Given the description of an element on the screen output the (x, y) to click on. 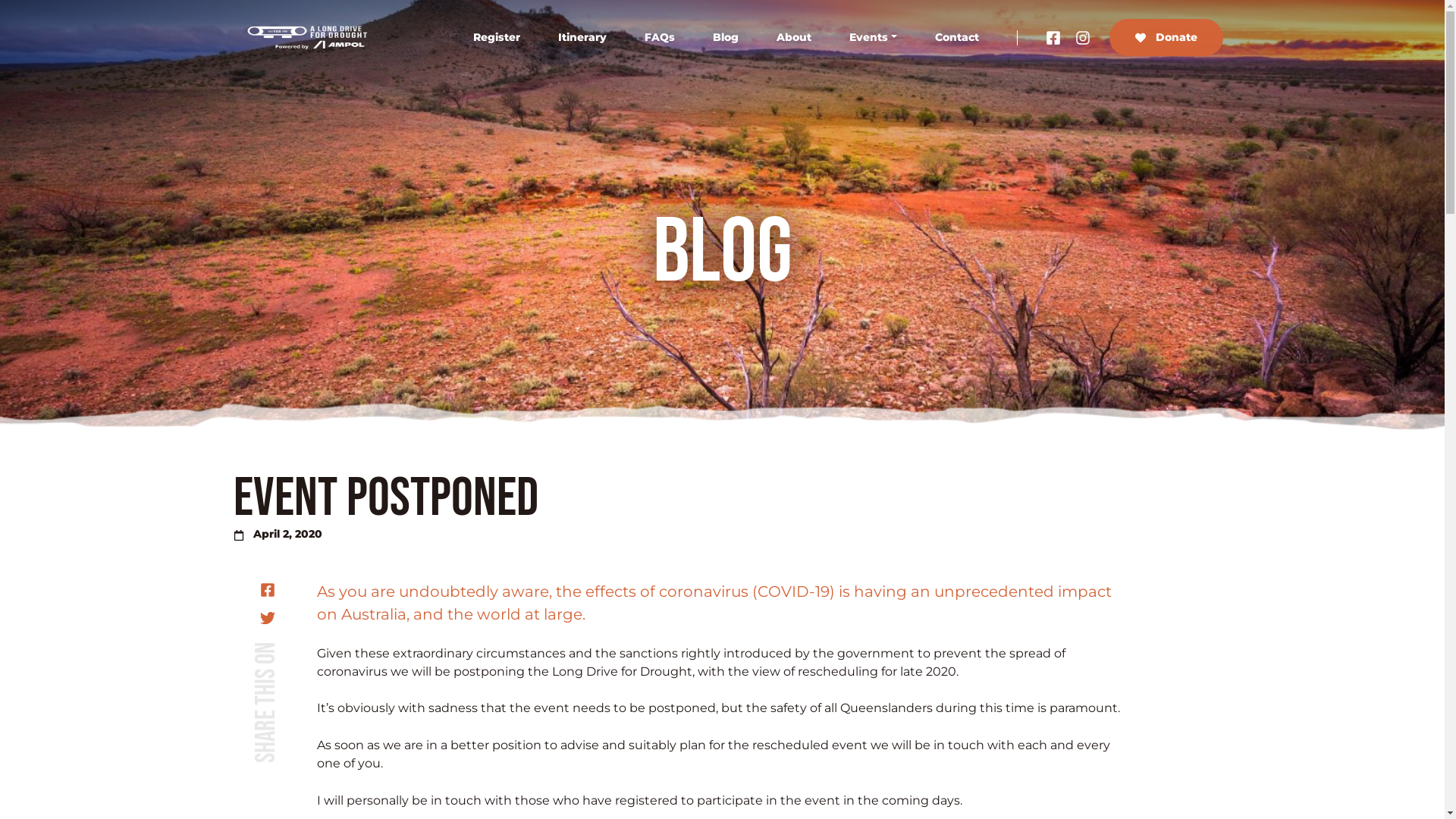
About Element type: text (793, 37)
Register Element type: text (497, 37)
Itinerary Element type: text (582, 37)
Donate Element type: text (1166, 37)
Contact Element type: text (956, 37)
A Long Drive For Drought Element type: text (309, 37)
Events Element type: text (873, 37)
Blog Element type: text (725, 37)
FAQs Element type: text (659, 37)
